Given the description of an element on the screen output the (x, y) to click on. 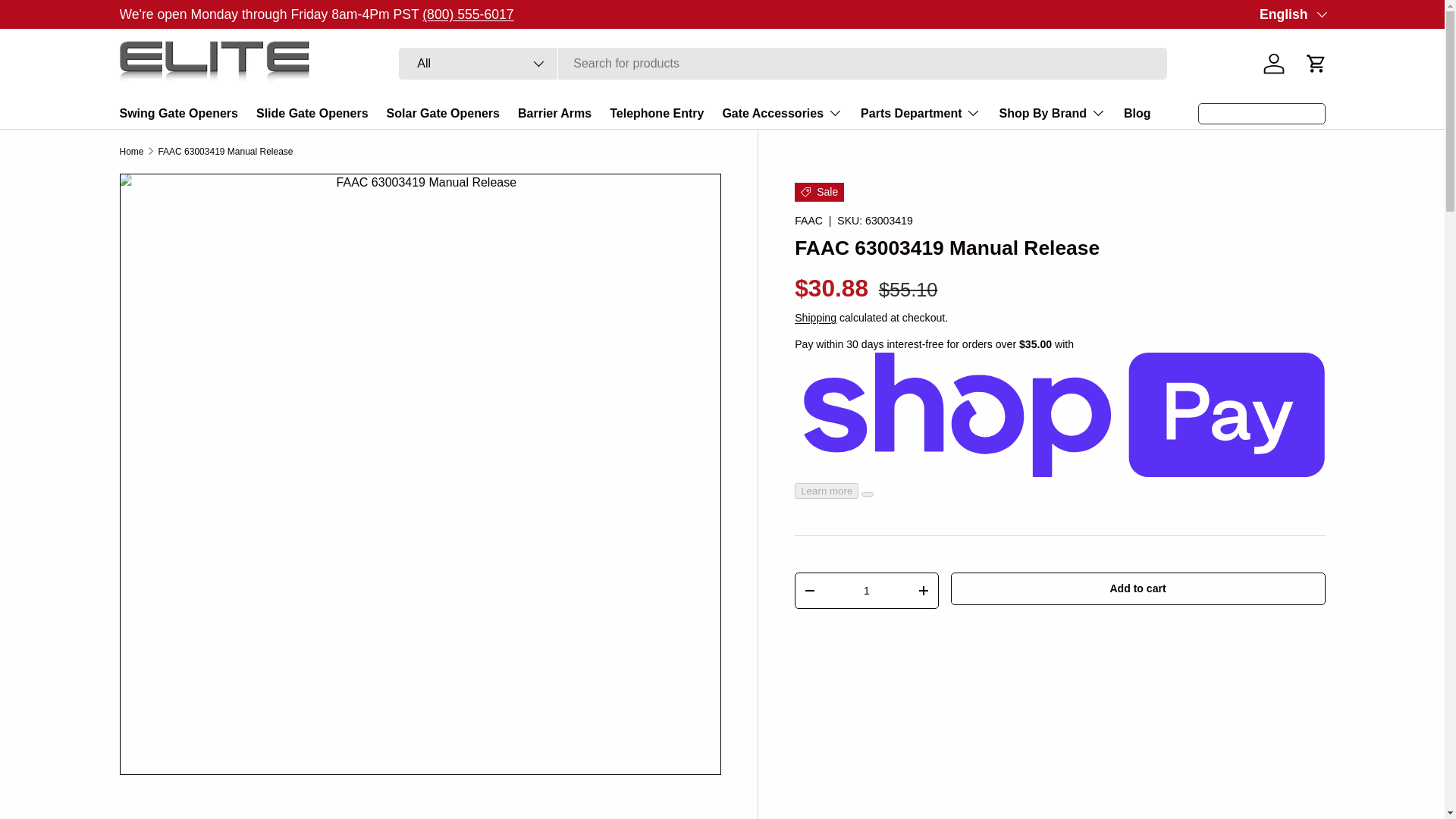
Telephone Entry (656, 112)
Swing Gate Openers (178, 112)
Solar Gate Openers (443, 112)
Gate Accessories (782, 112)
Slide Gate Openers (312, 112)
All (477, 63)
English (1291, 14)
Parts Department (919, 112)
Log in (1273, 63)
Skip to content (68, 21)
